Given the description of an element on the screen output the (x, y) to click on. 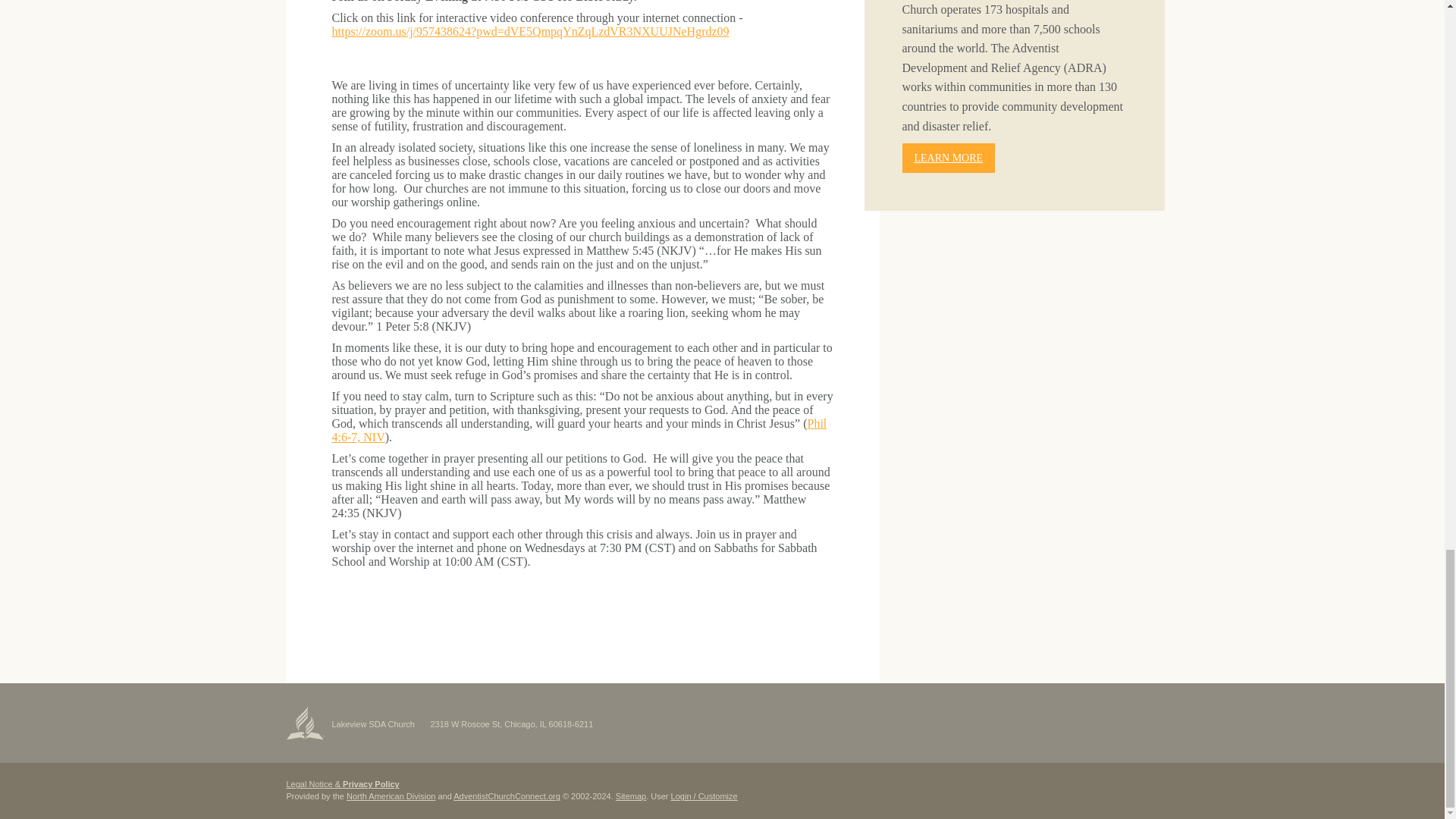
LEARN MORE (948, 157)
Sitemap (630, 795)
North American Division (390, 795)
Seventh-day Adventist Logo (305, 722)
AdventistChurchConnect.org (506, 795)
Phil 4:6-7, NIV (579, 429)
